Given the description of an element on the screen output the (x, y) to click on. 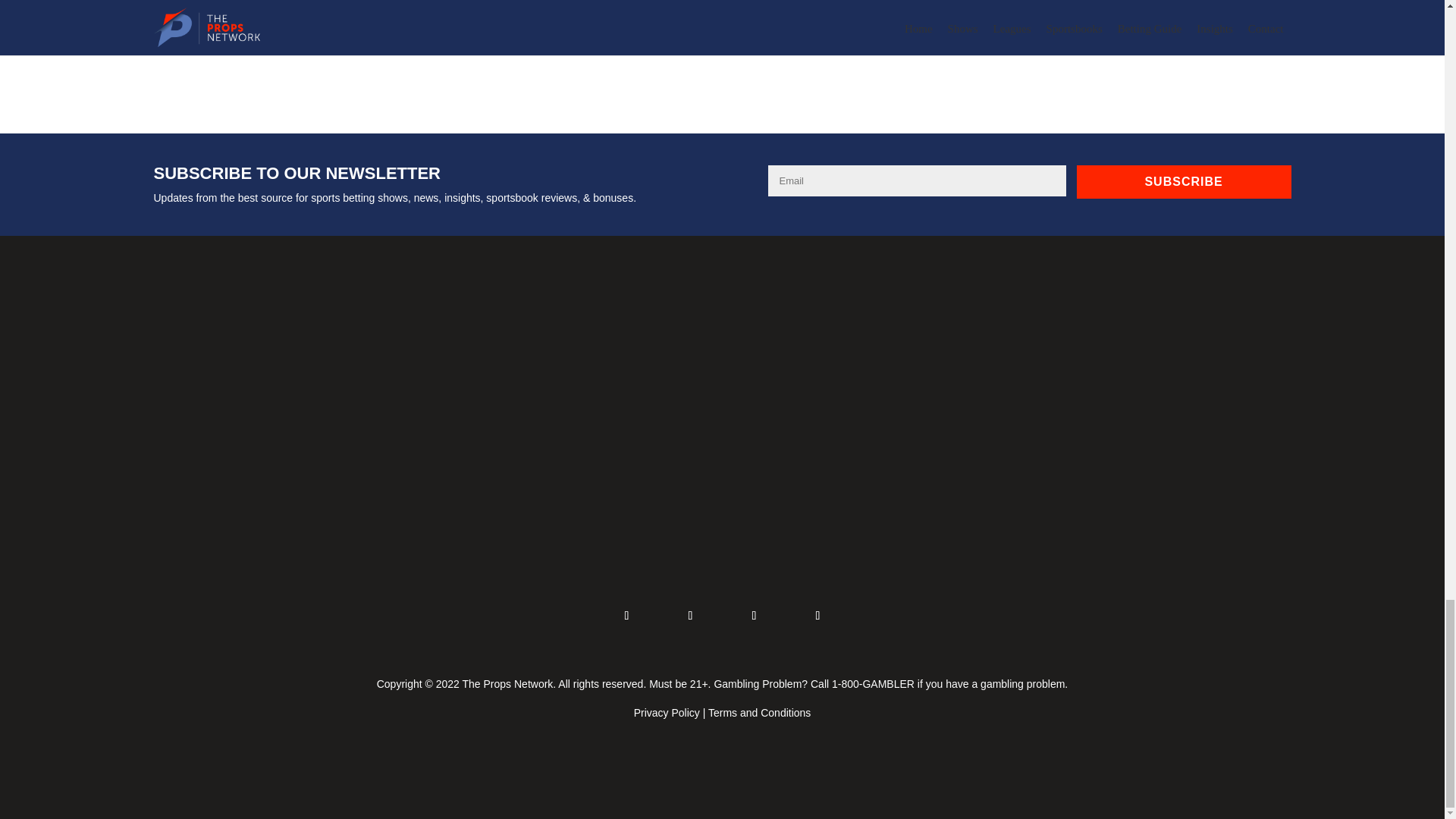
Follow on Youtube (817, 615)
Follow on Facebook (626, 615)
Follow on Instagram (753, 615)
Follow on X (689, 615)
